Given the description of an element on the screen output the (x, y) to click on. 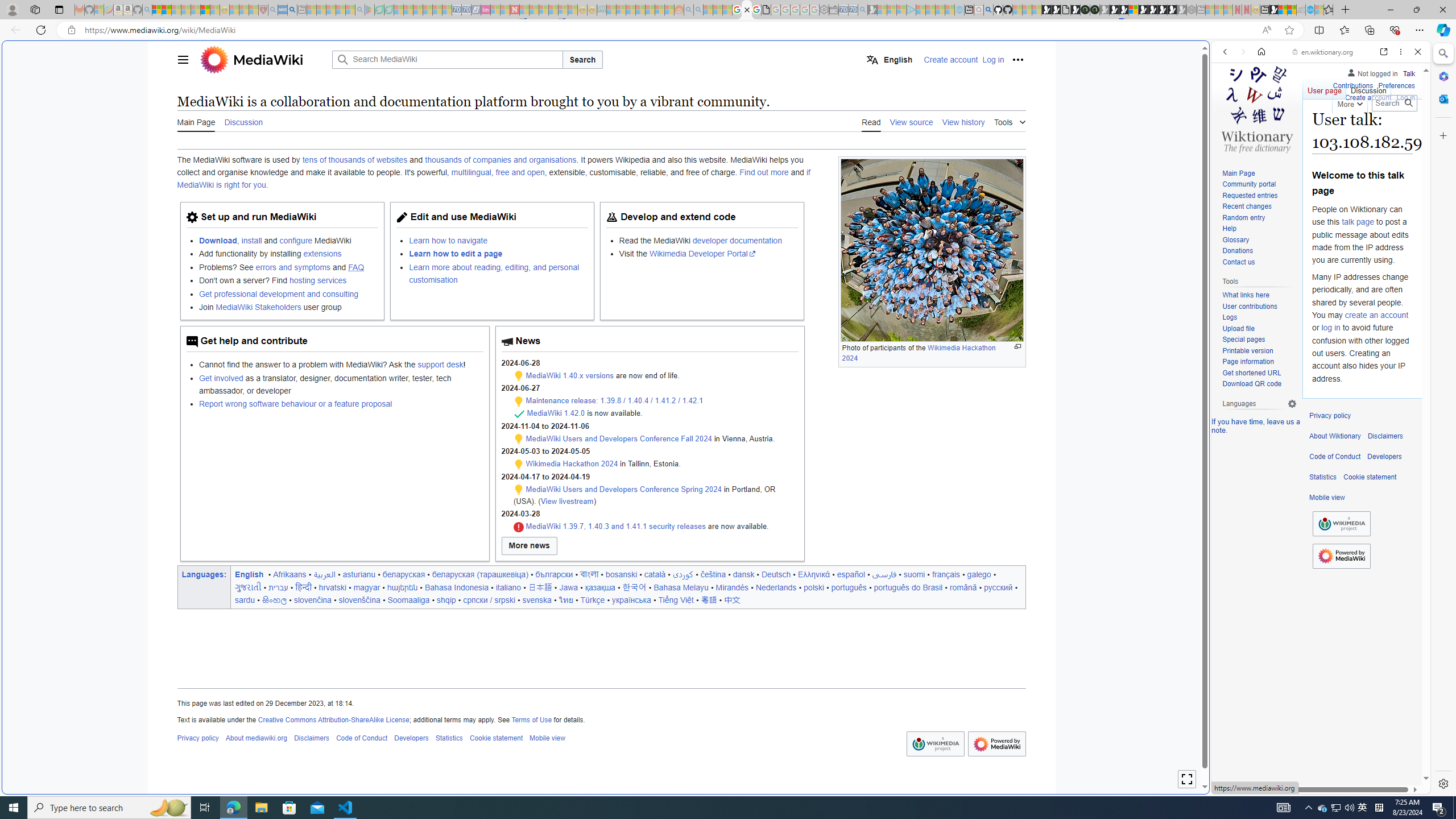
bosanski (621, 574)
hrvatski (332, 587)
Powered by MediaWiki (1341, 555)
Wiktionary (1315, 380)
